Given the description of an element on the screen output the (x, y) to click on. 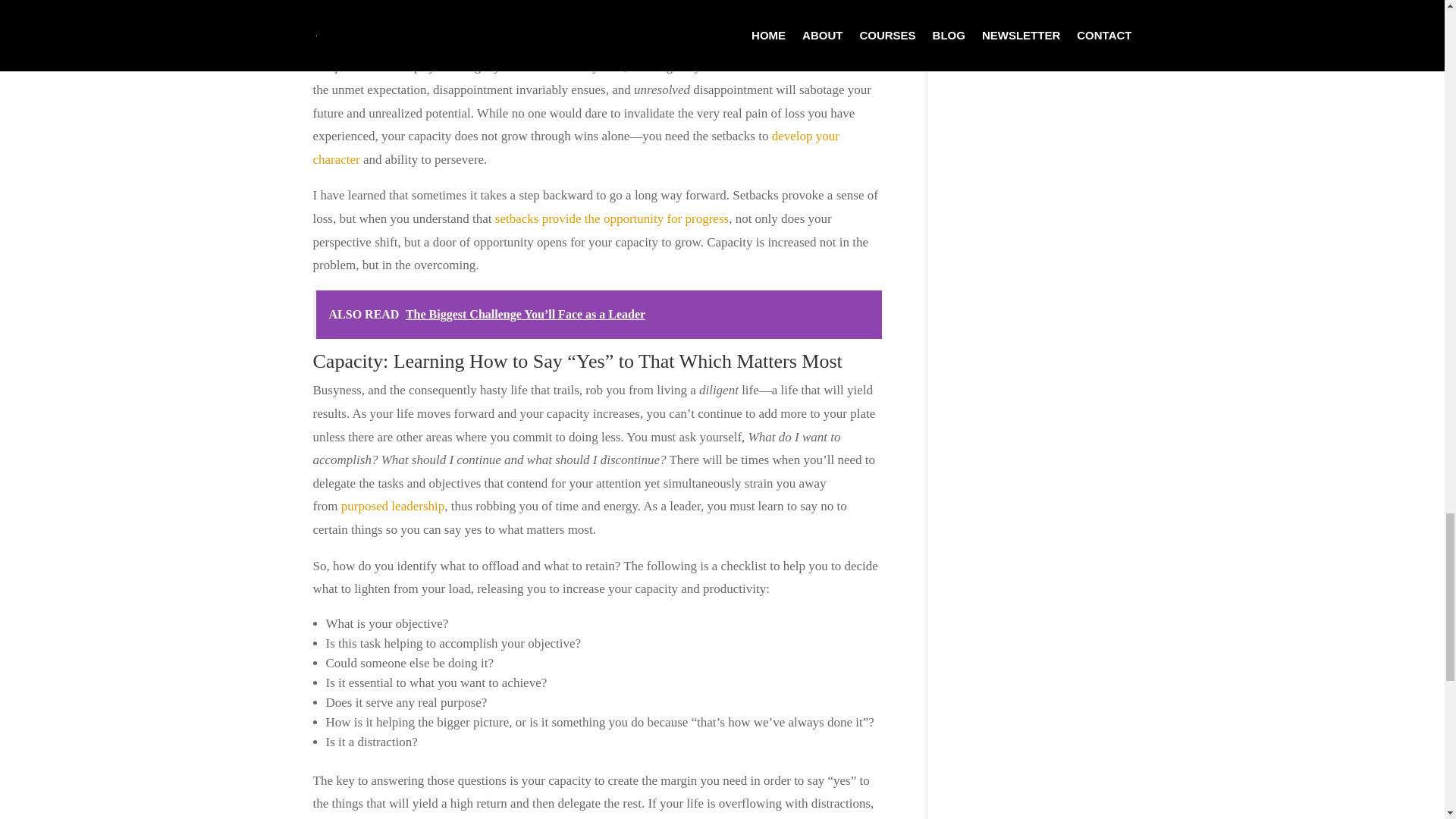
purposed leadership (392, 505)
setbacks provide the opportunity for progress (612, 218)
develop your character (575, 147)
